Given the description of an element on the screen output the (x, y) to click on. 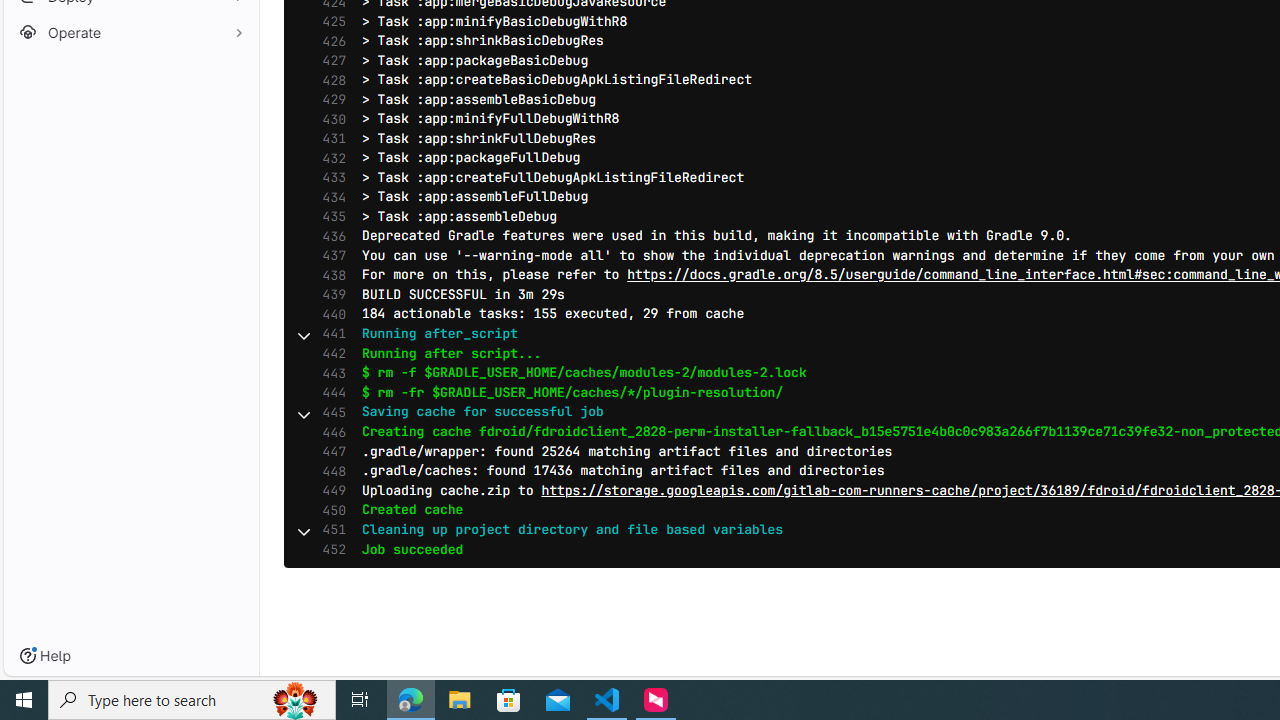
446 (329, 431)
438 (329, 274)
444 (329, 393)
Operate (130, 31)
447 (329, 452)
431 (329, 138)
440 (329, 313)
435 (329, 216)
428 (329, 79)
425 (329, 21)
Operate (130, 31)
450 (329, 510)
434 (329, 197)
436 (329, 236)
